Given the description of an element on the screen output the (x, y) to click on. 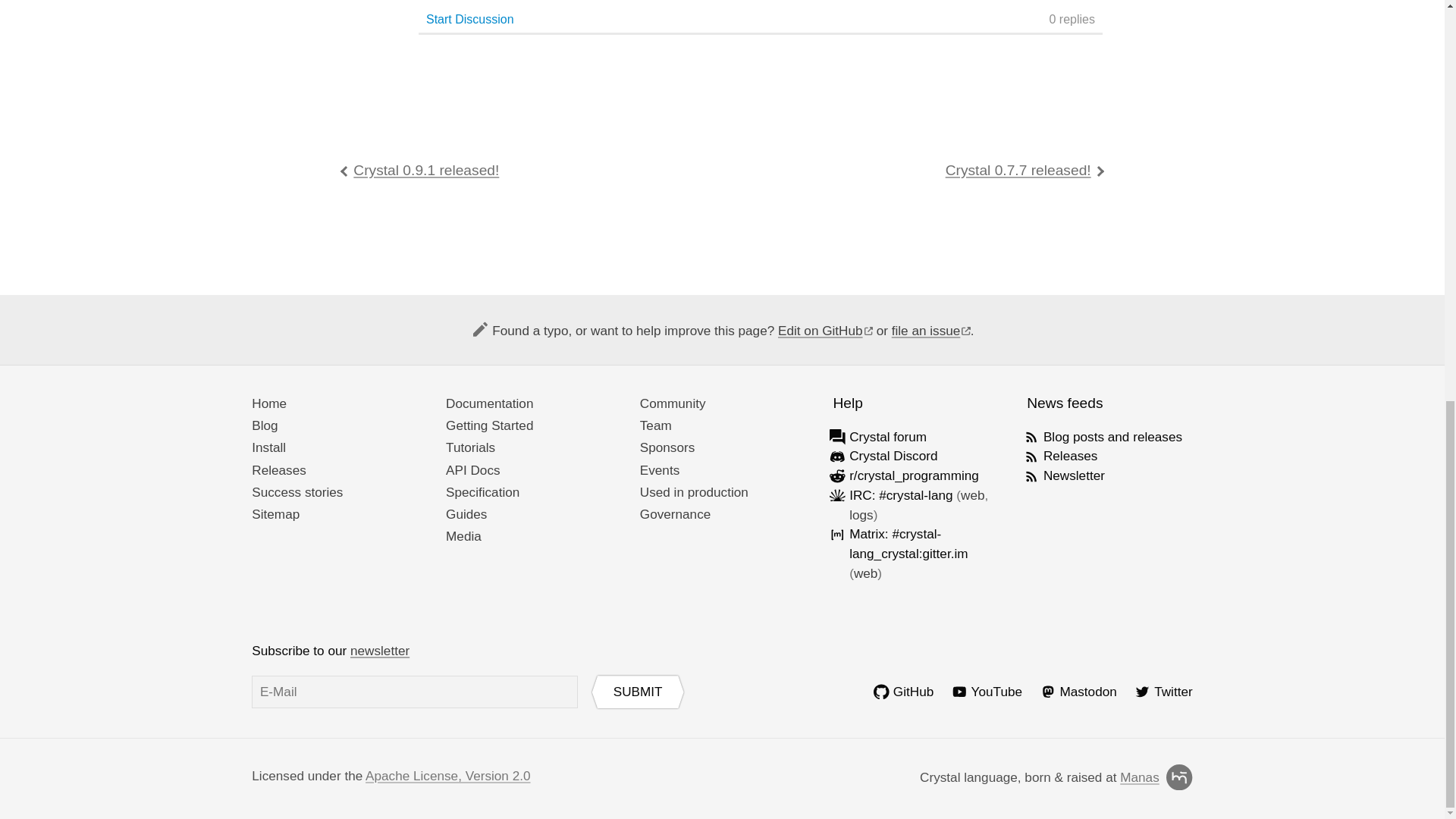
Media (463, 535)
Tutorials (470, 447)
file an issue (931, 330)
Team (655, 425)
Used in production (694, 491)
API Docs (472, 469)
Crystal 0.9.1 released! (420, 170)
Install (268, 447)
Crystal Programming on Reddit (913, 475)
Guides (465, 513)
Home (268, 403)
Crystal Forum (887, 436)
Events (659, 469)
Sitemap (275, 513)
Community (673, 403)
